Given the description of an element on the screen output the (x, y) to click on. 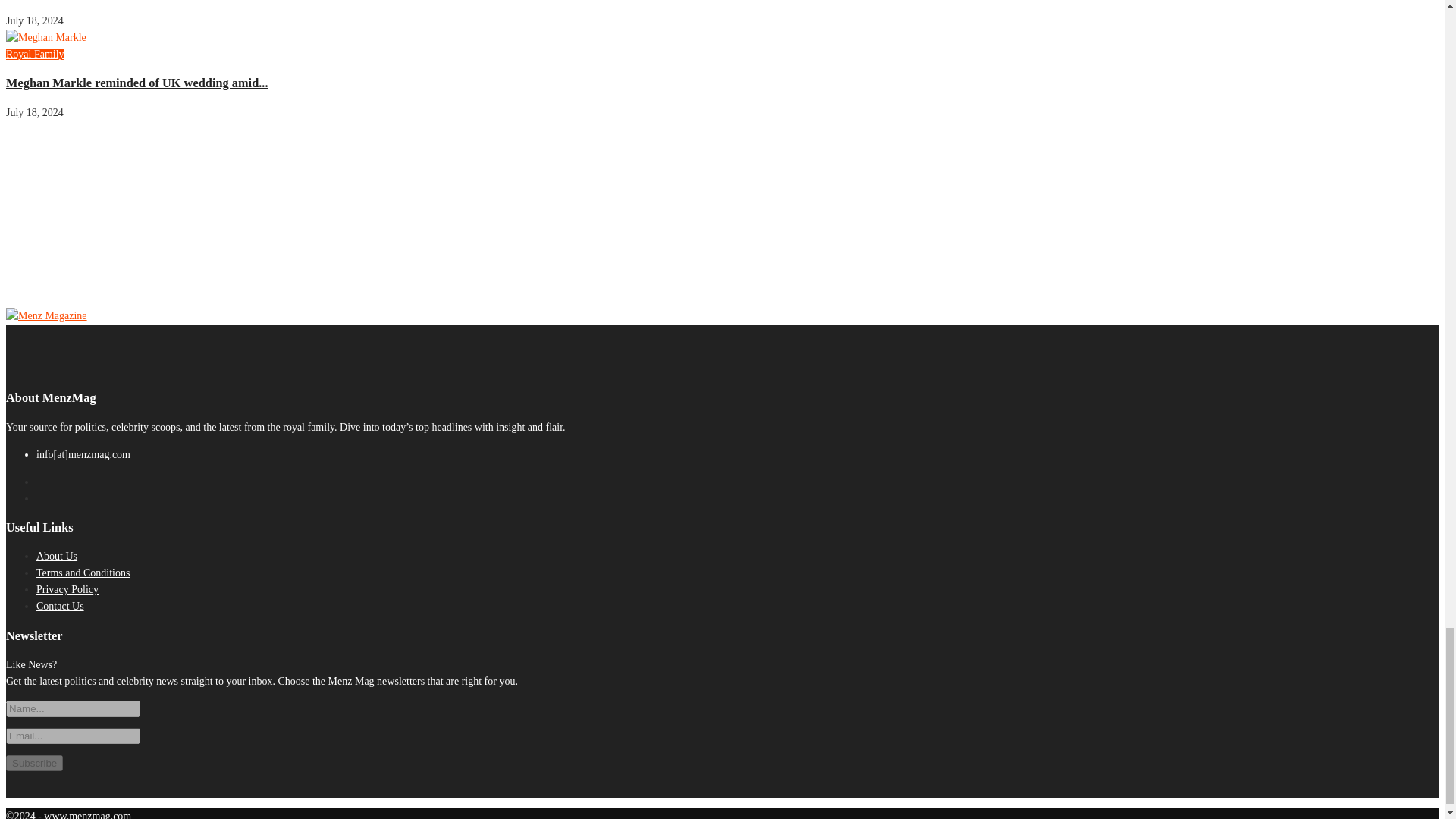
Meghan Markle reminded of UK wedding amid... (136, 83)
About Us (56, 555)
Royal Family (34, 53)
Subscribe (33, 763)
